Given the description of an element on the screen output the (x, y) to click on. 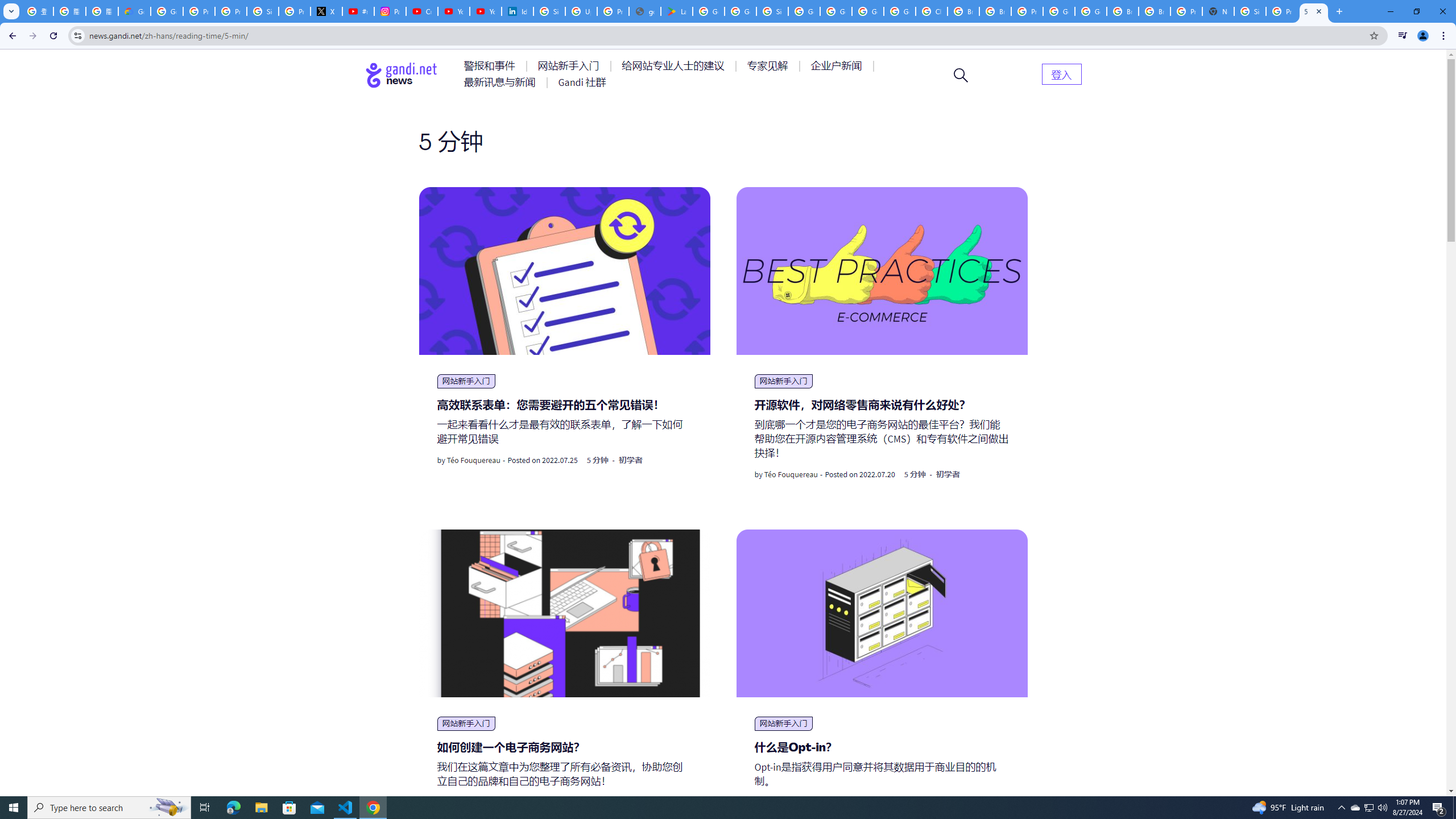
AutomationID: menu-item-77763 (674, 65)
AutomationID: menu-item-77764 (769, 65)
Google Cloud Privacy Notice (134, 11)
AutomationID: menu-item-77767 (581, 82)
Browse Chrome as a guest - Computer - Google Chrome Help (995, 11)
